Given the description of an element on the screen output the (x, y) to click on. 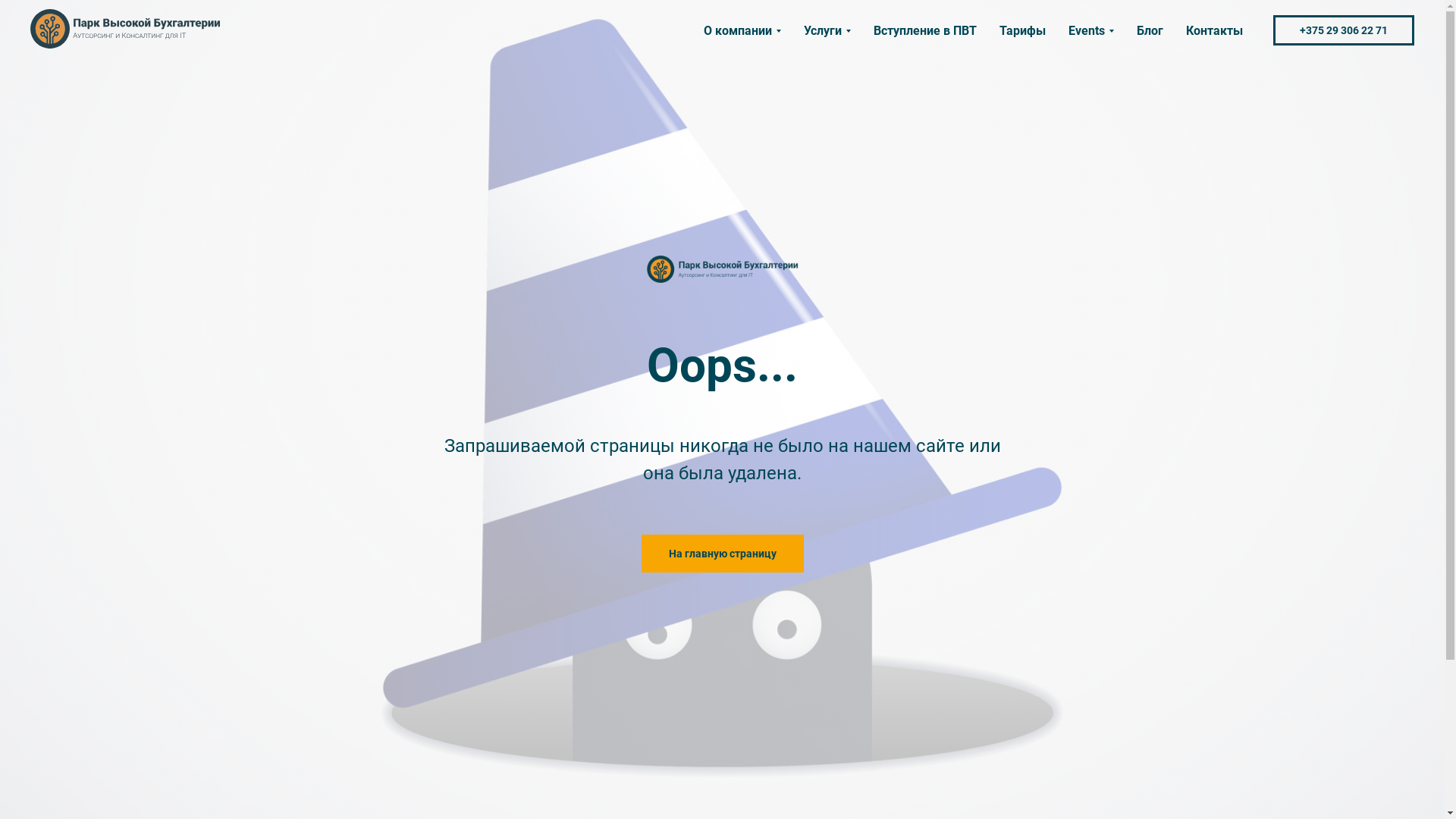
+375 29 306 22 71 Element type: text (1343, 30)
Events Element type: text (1090, 29)
